Given the description of an element on the screen output the (x, y) to click on. 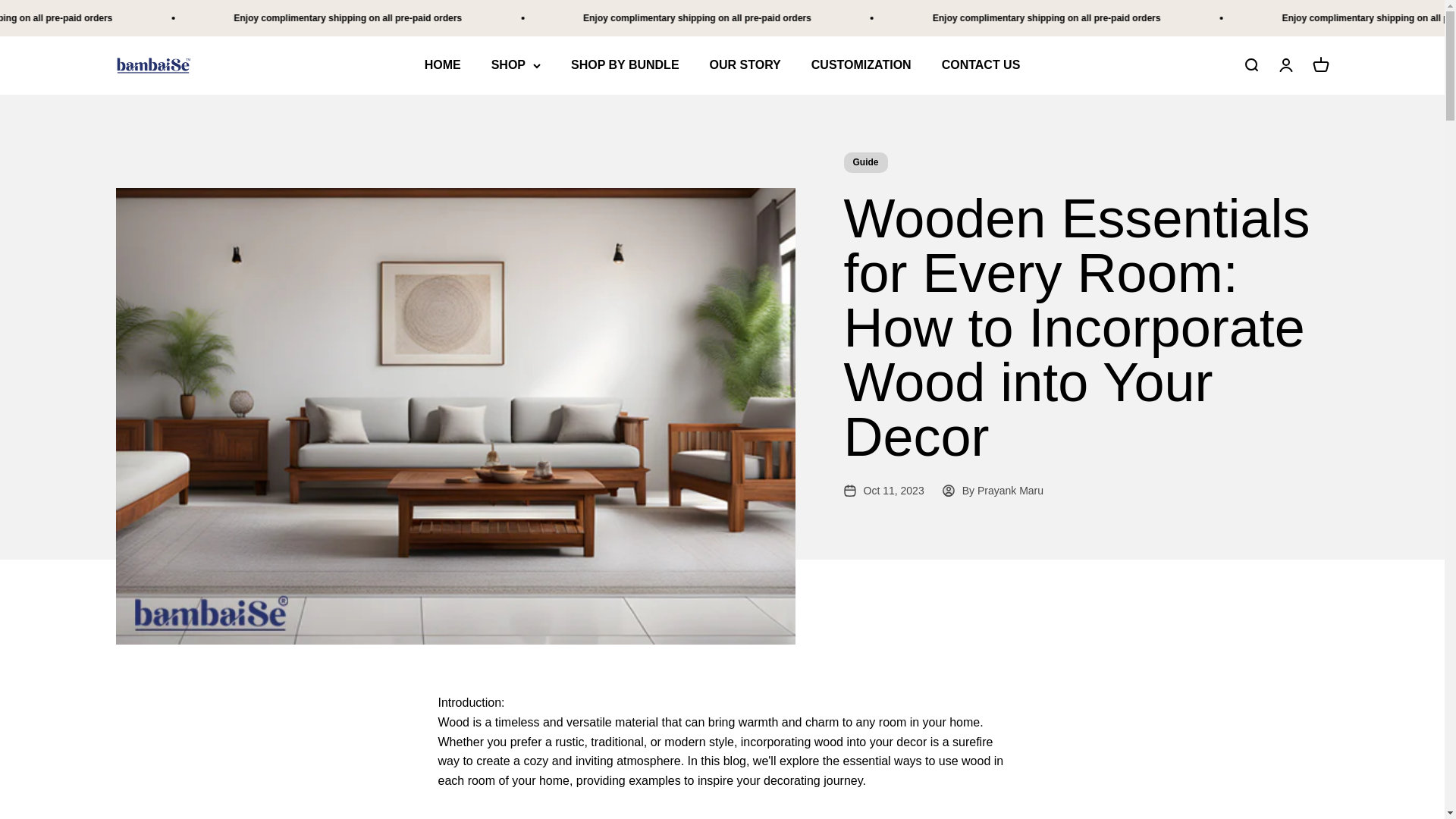
bambaiSe (1319, 65)
CONTACT US (152, 65)
SHOP BY BUNDLE (981, 65)
HOME (624, 65)
OUR STORY (443, 65)
CUSTOMIZATION (745, 65)
Open account page (860, 65)
Open search (1285, 65)
